Given the description of an element on the screen output the (x, y) to click on. 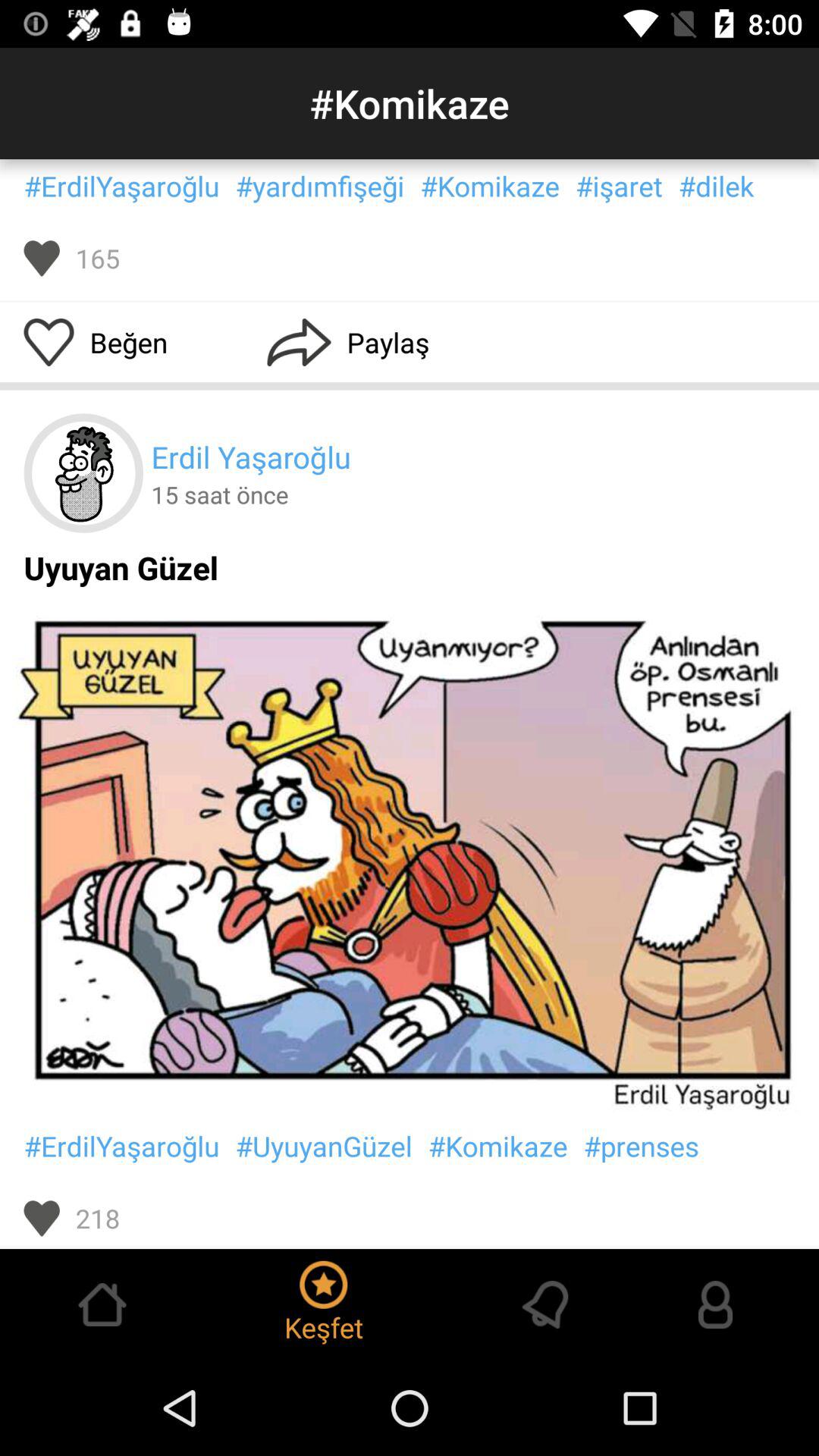
click #prenses icon (640, 1145)
